Given the description of an element on the screen output the (x, y) to click on. 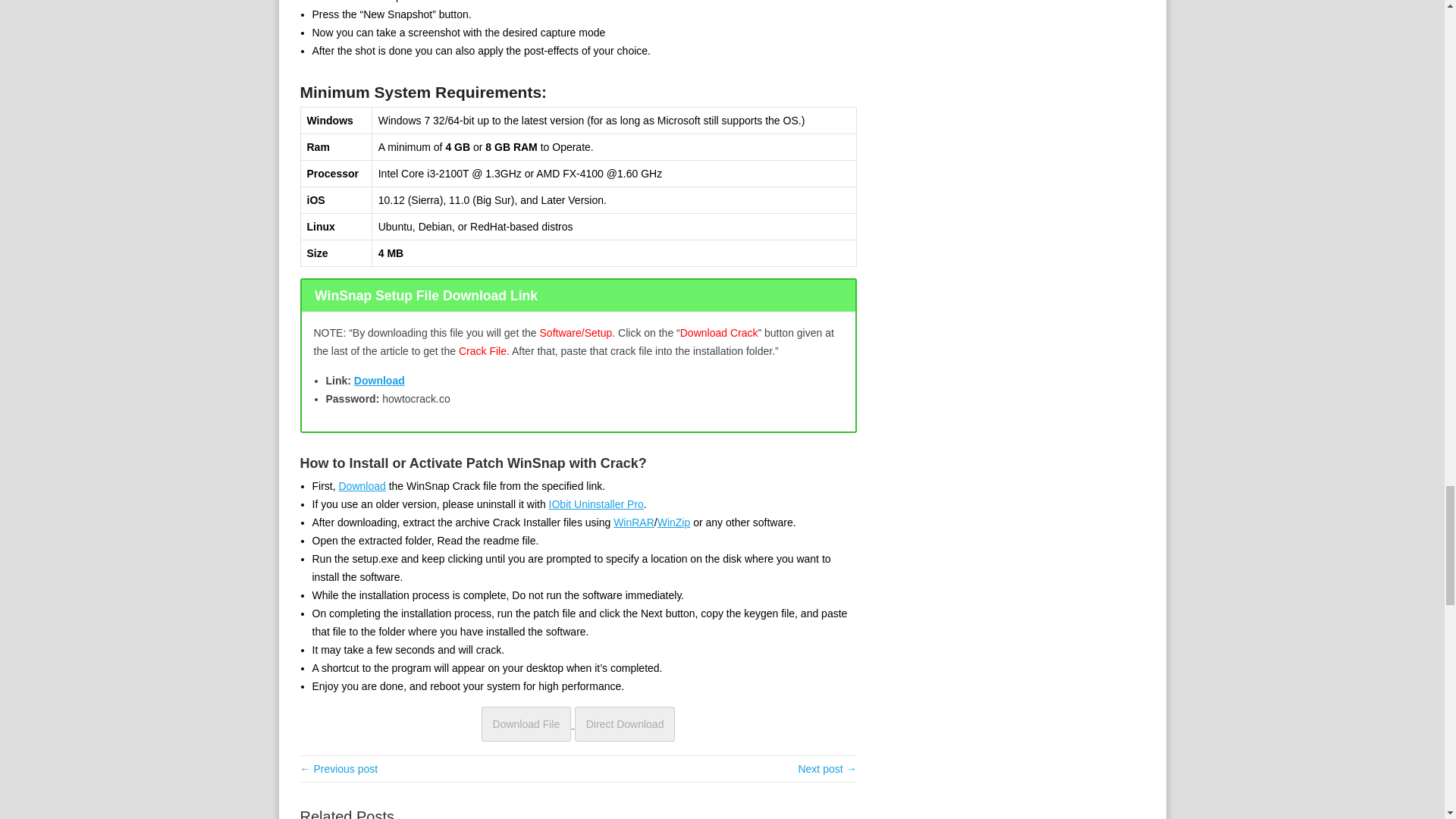
Download (361, 485)
Download (378, 380)
How To Crack Adobe Media Encoder 24.2.2 Keygen Free Download (338, 768)
WinZip (674, 522)
Download File (526, 724)
IObit Uninstaller Pro (595, 503)
WinRAR (632, 522)
Direct Download (625, 724)
Download File Direct Download (578, 723)
How To Crack FonePaw Data Recovery 9.1.0 Registration Code (826, 768)
